Given the description of an element on the screen output the (x, y) to click on. 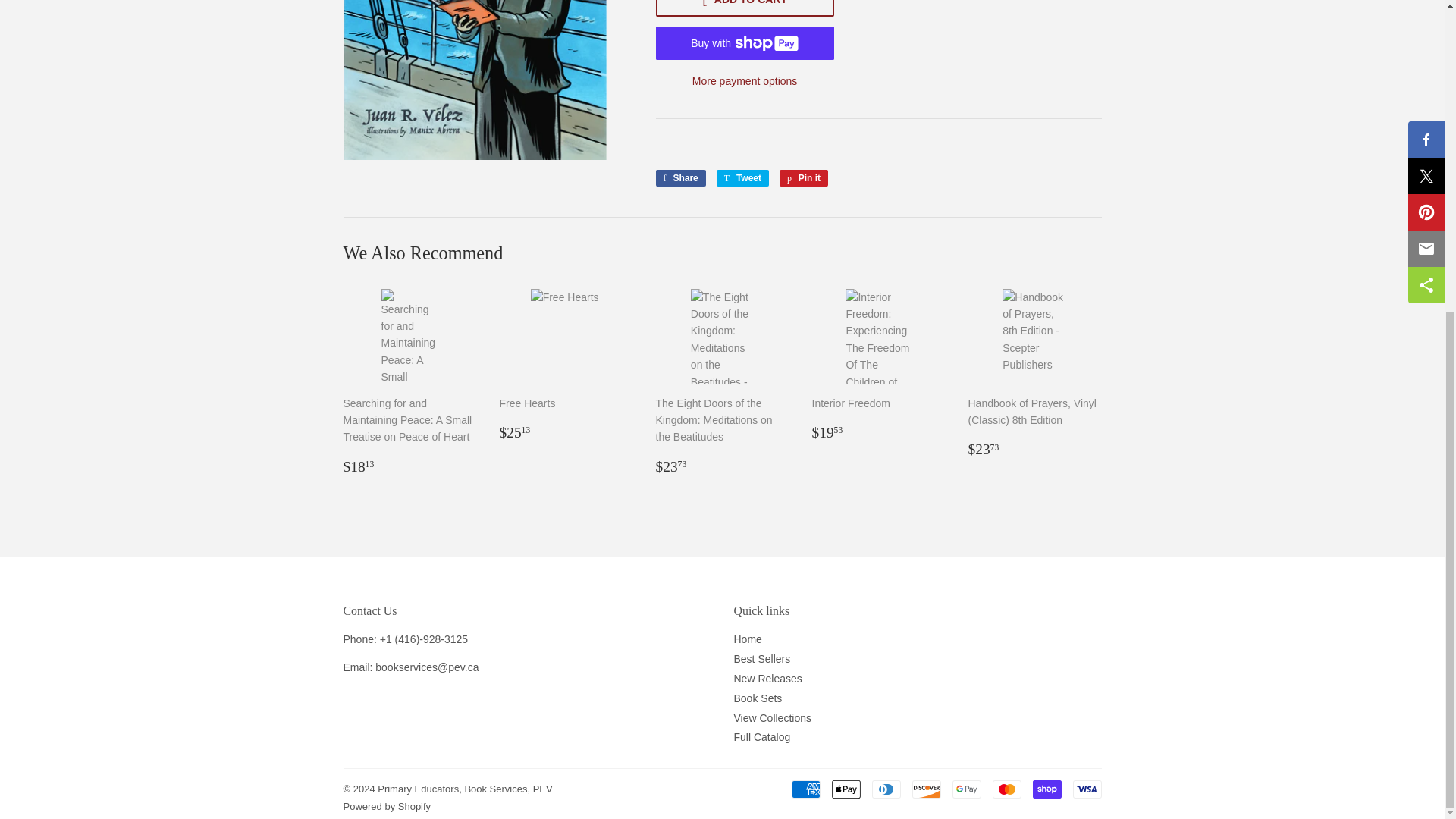
Share on Facebook (679, 177)
Tweet on Twitter (742, 177)
American Express (742, 177)
Google Pay (806, 789)
Apple Pay (803, 177)
Home (966, 789)
Discover (845, 789)
Pin on Pinterest (747, 639)
More payment options (925, 789)
ADD TO CART (803, 177)
Mastercard (743, 81)
Diners Club (743, 8)
Shop Pay (1005, 789)
